Given the description of an element on the screen output the (x, y) to click on. 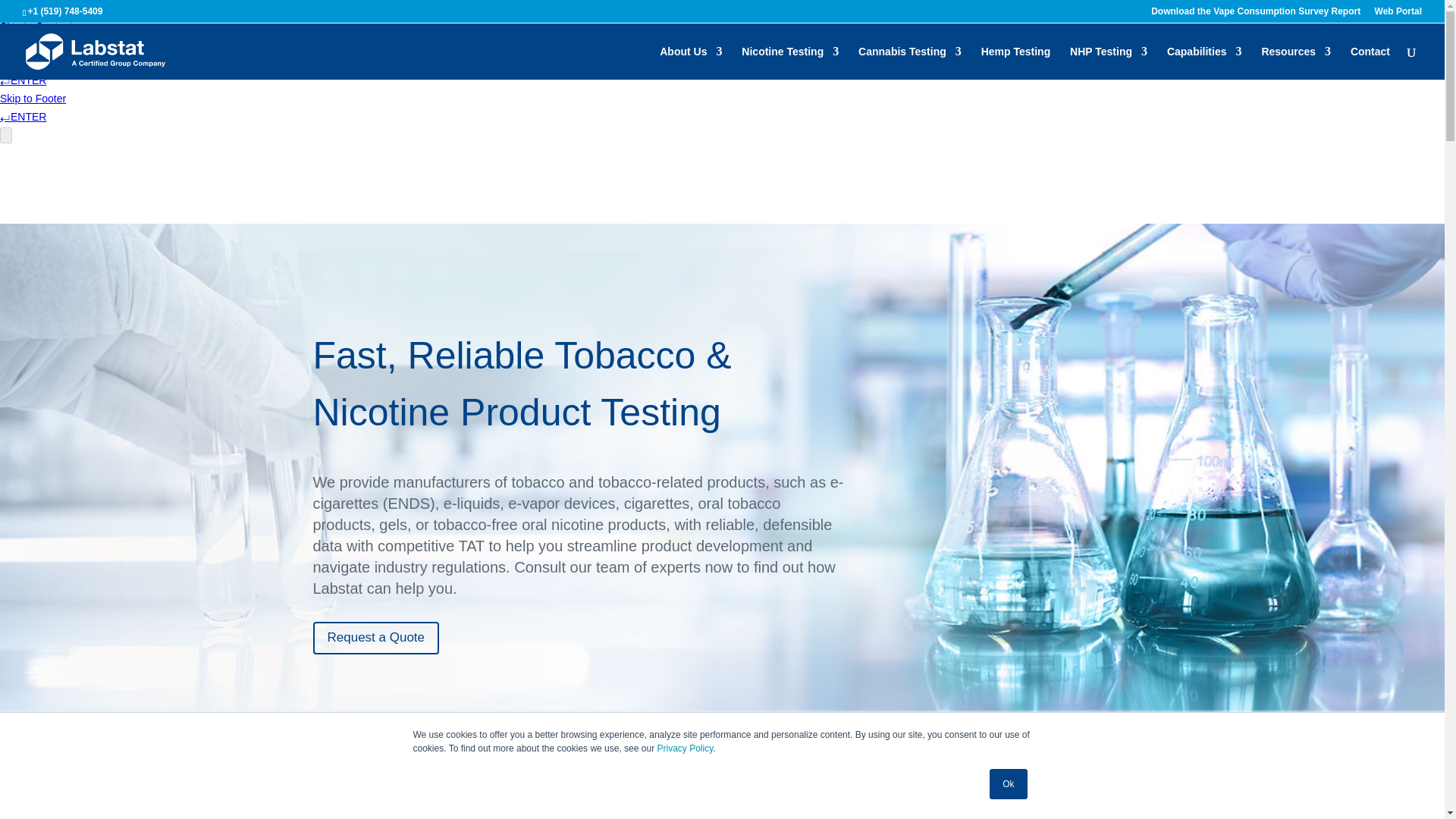
About Us (690, 62)
NHP Testing (1108, 62)
Cannabis Testing (909, 62)
Ok (1008, 784)
Privacy Policy (684, 747)
Download the Vape Consumption Survey Report (1255, 14)
Web Portal (1398, 14)
Hemp Testing (1016, 62)
Nicotine Testing (789, 62)
